Given the description of an element on the screen output the (x, y) to click on. 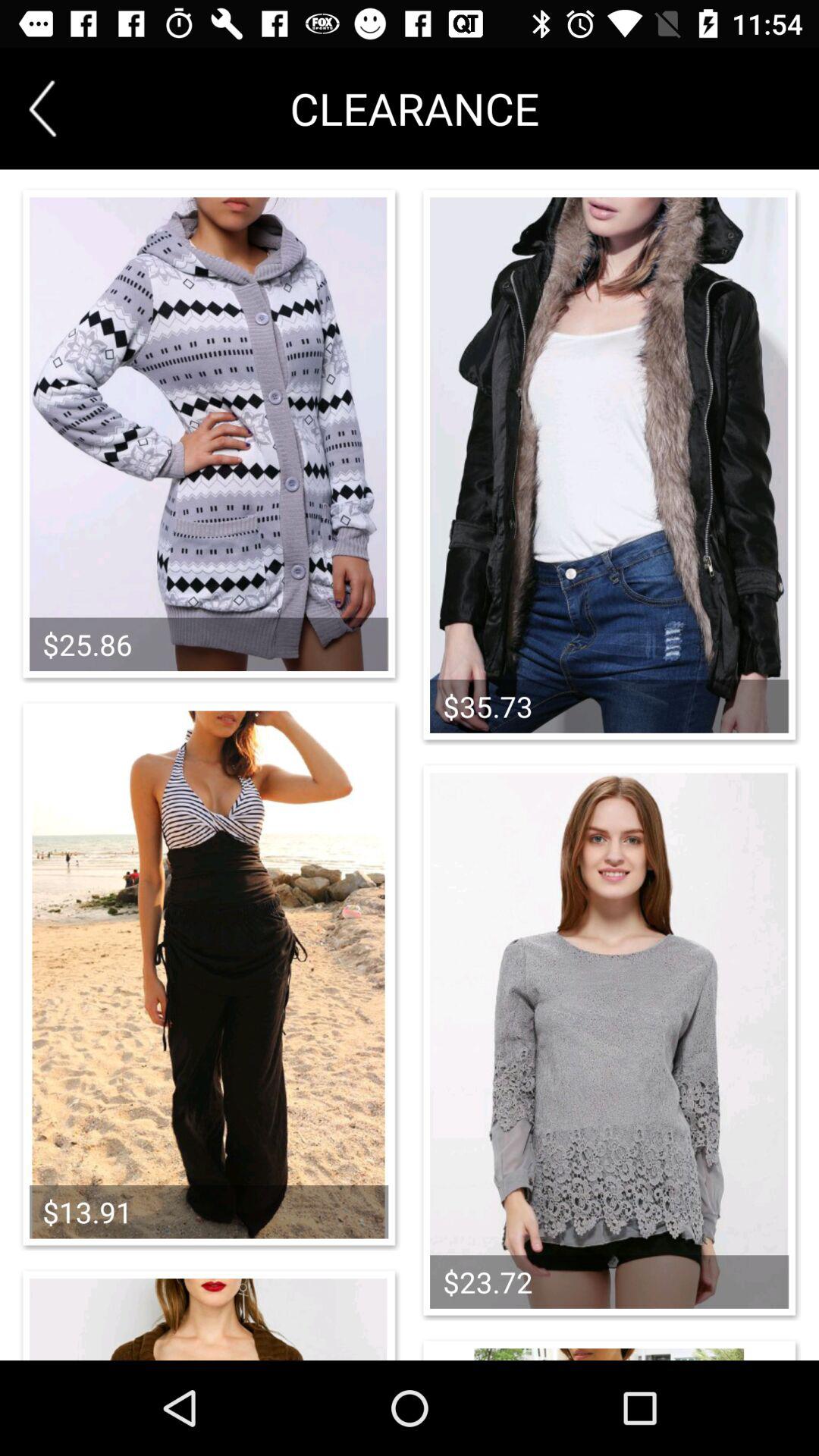
turn on item to the left of clearance (42, 108)
